Given the description of an element on the screen output the (x, y) to click on. 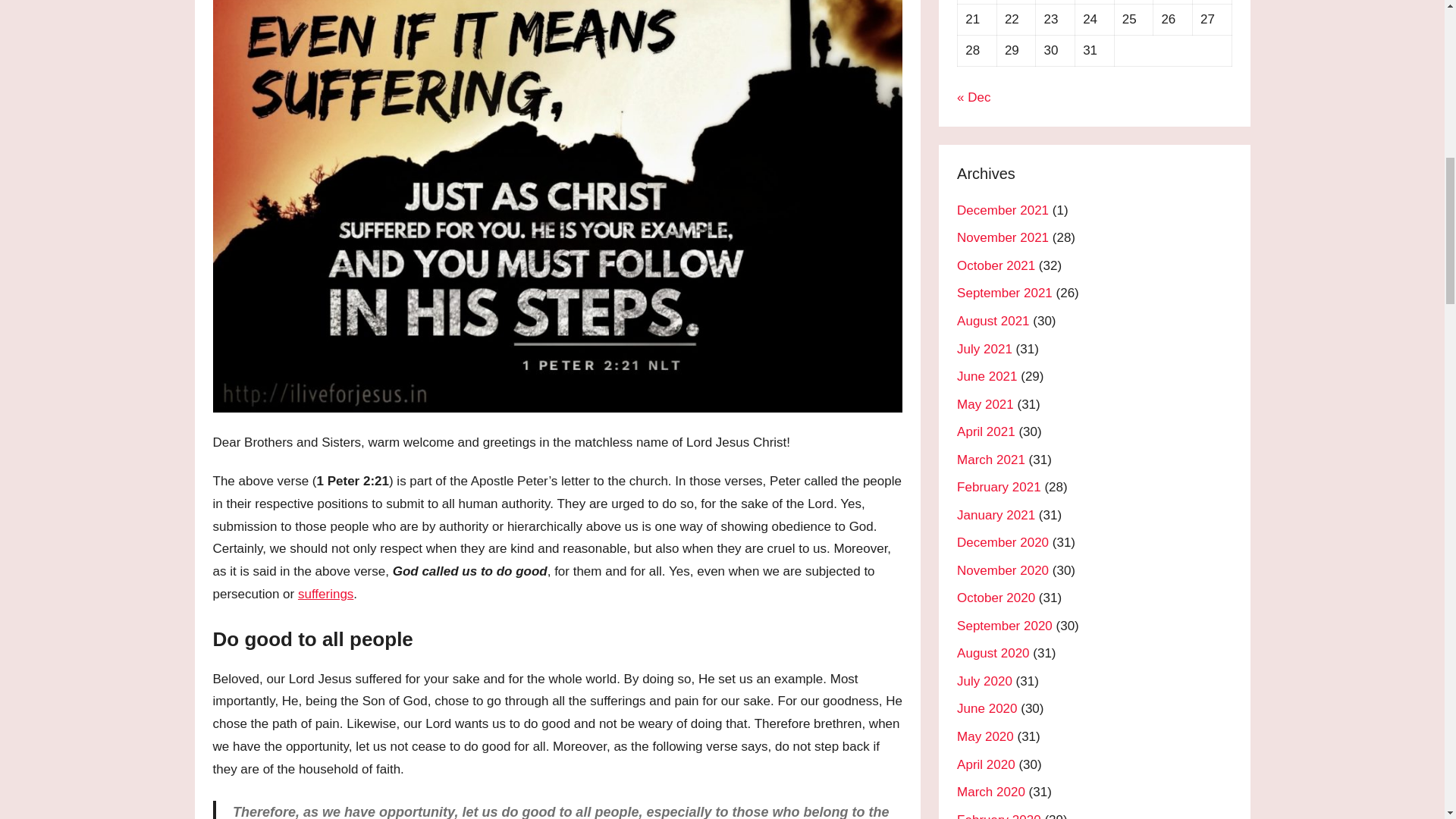
sufferings (325, 594)
